Given the description of an element on the screen output the (x, y) to click on. 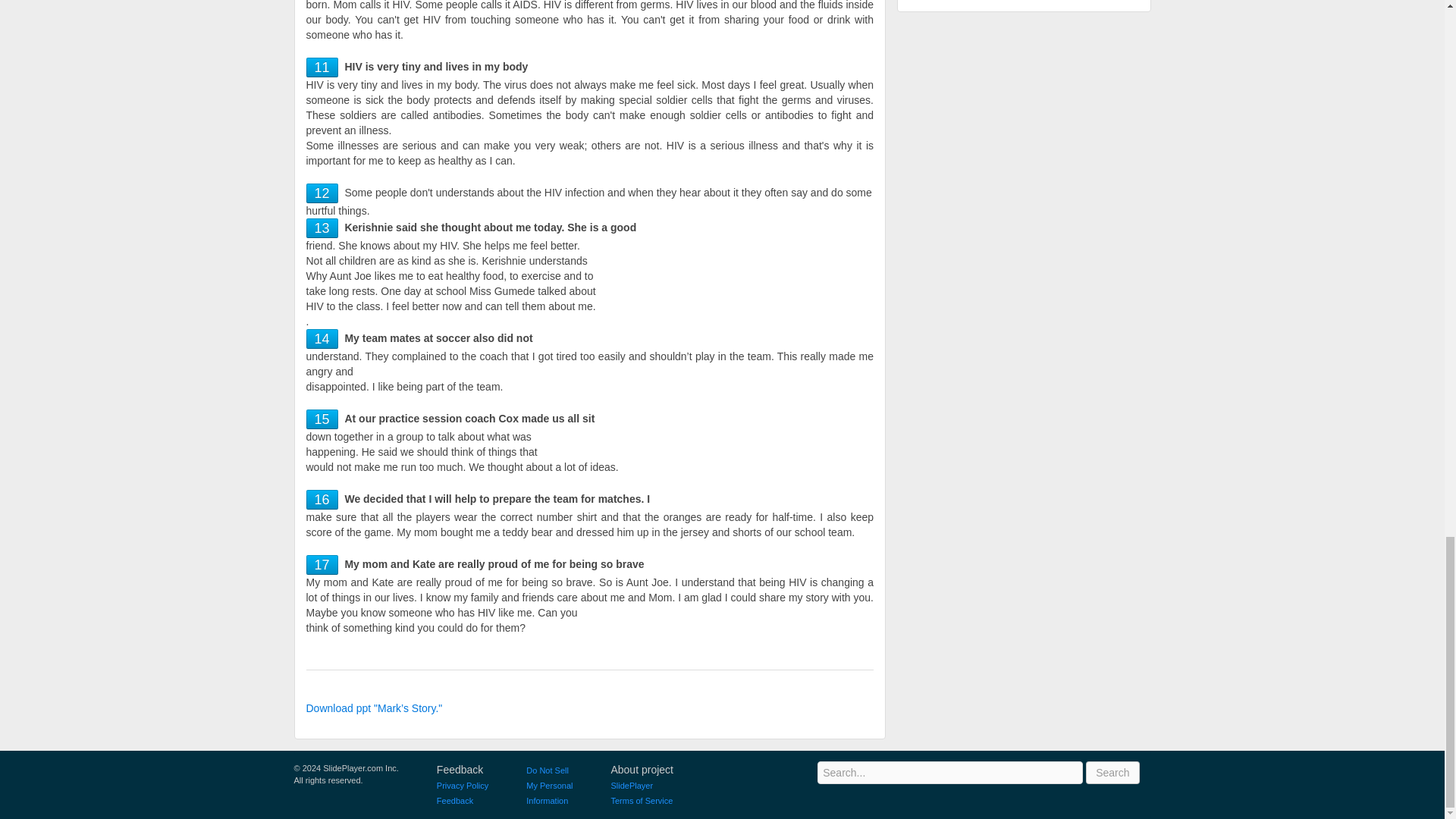
HIV is very tiny and lives in my body (321, 67)
My team mates at soccer also did not (321, 338)
My mom and Kate are really proud of me for being so brave (321, 564)
At our practice session coach Cox made us all sit (321, 418)
Kerishnie said she thought about me today. She is a good (321, 227)
